Given the description of an element on the screen output the (x, y) to click on. 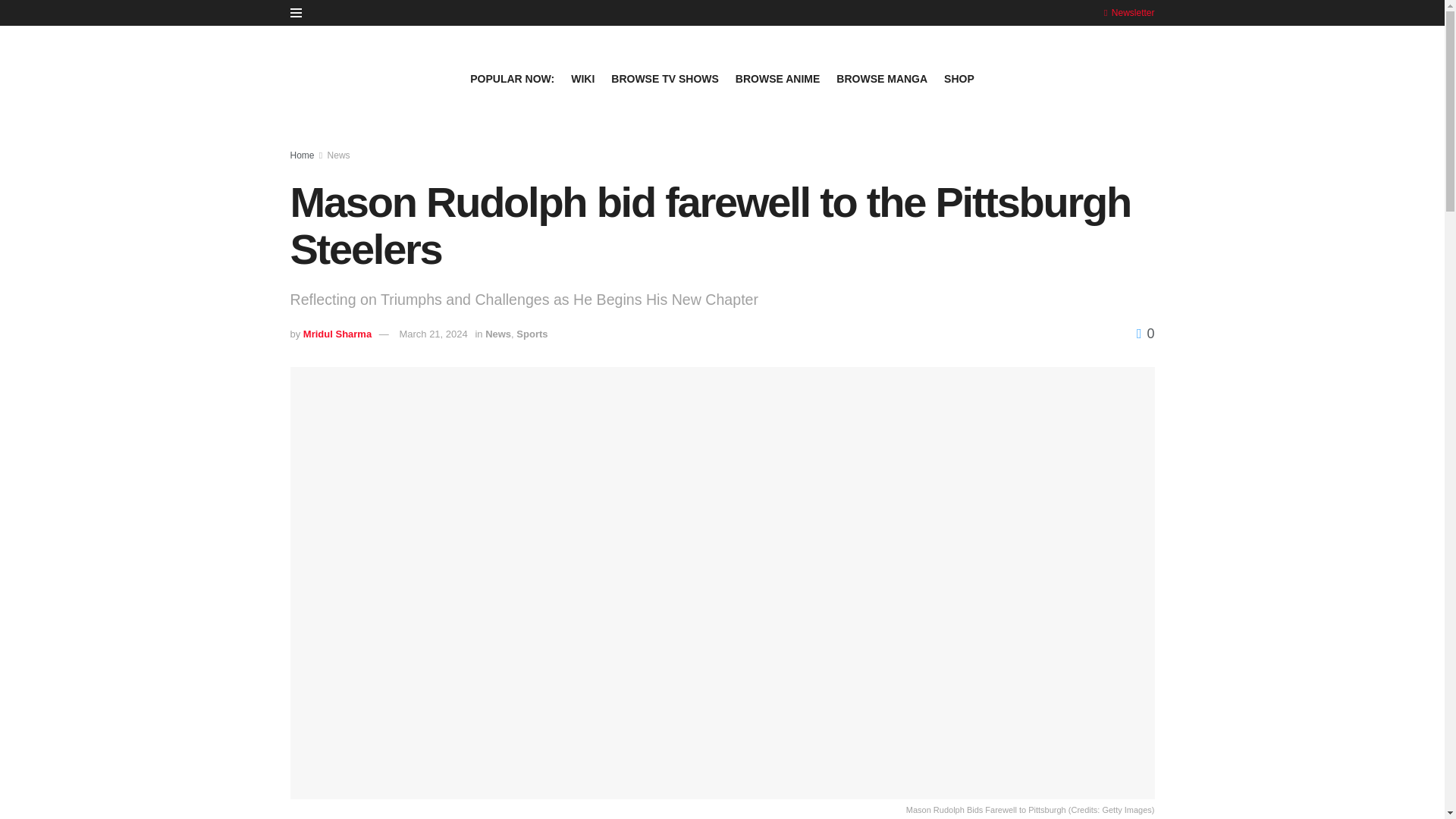
Mridul Sharma (336, 333)
News (497, 333)
POPULAR NOW: (512, 78)
BROWSE ANIME (777, 78)
BROWSE MANGA (881, 78)
0 (1145, 333)
Newsletter (1128, 12)
Home (301, 154)
BROWSE TV SHOWS (665, 78)
Sports (531, 333)
